Given the description of an element on the screen output the (x, y) to click on. 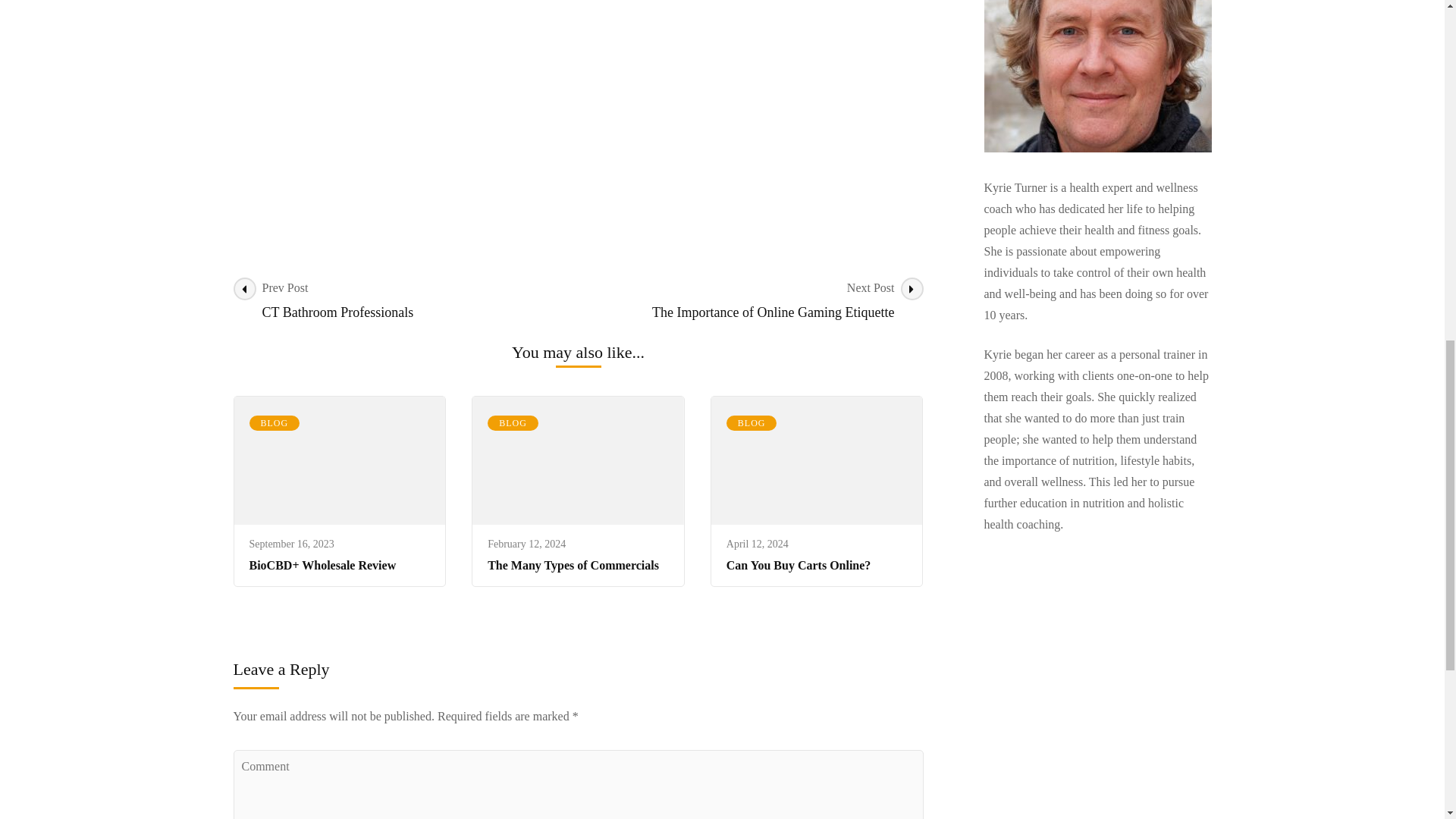
BLOG (273, 422)
BLOG (751, 422)
April 12, 2024 (405, 300)
The Many Types of Commercials (757, 543)
BLOG (573, 564)
September 16, 2023 (512, 422)
February 12, 2024 (290, 543)
Can You Buy Carts Online? (750, 300)
